Given the description of an element on the screen output the (x, y) to click on. 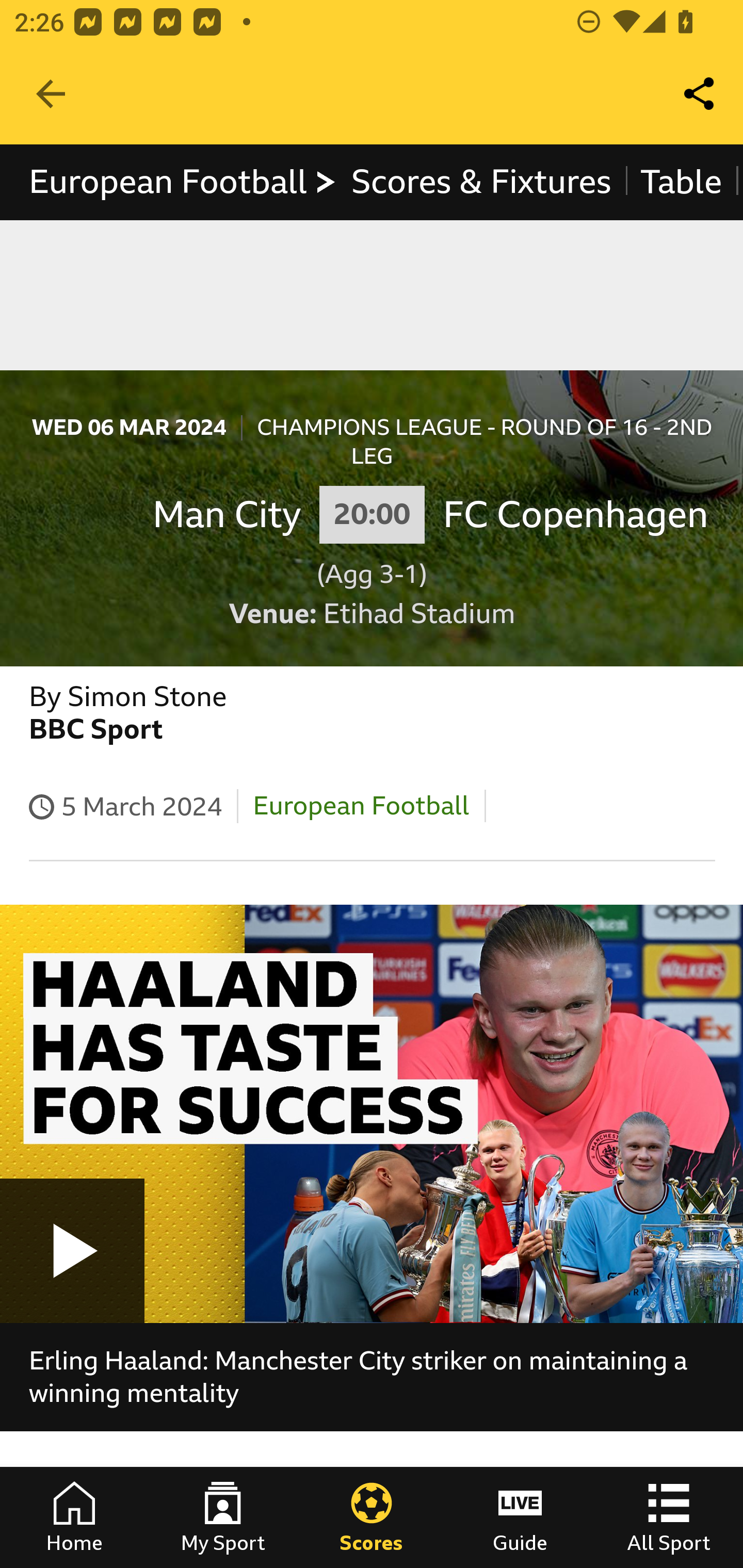
Navigate up (50, 93)
Share (699, 93)
European Football  (182, 181)
Scores & Fixtures (480, 181)
Table (681, 181)
European Football (361, 805)
Play  (371, 1113)
Play  (72, 1250)
Home (74, 1517)
My Sport (222, 1517)
Guide (519, 1517)
All Sport (668, 1517)
